Given the description of an element on the screen output the (x, y) to click on. 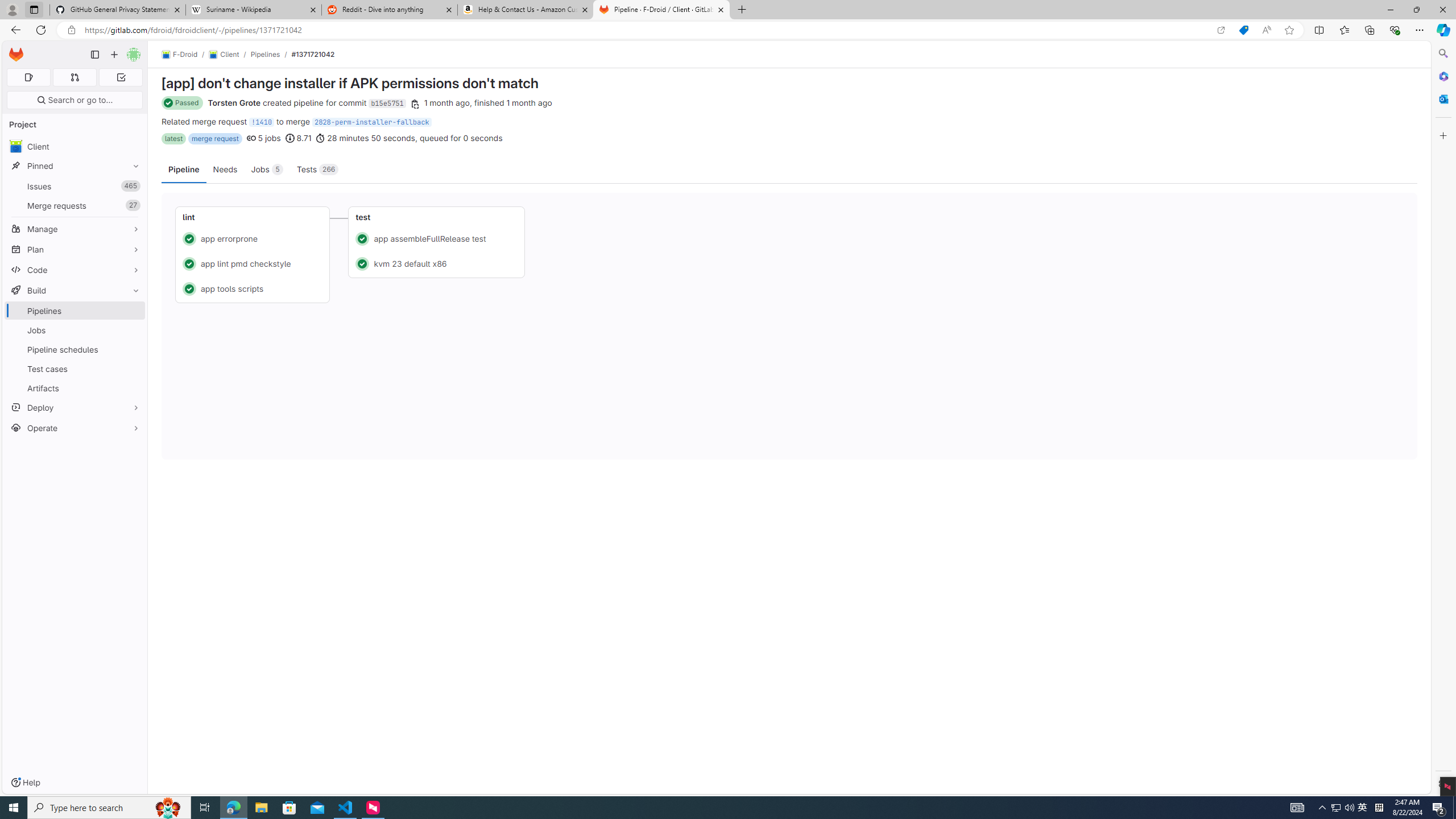
Build (74, 289)
Manage (74, 228)
Jobs (74, 330)
Create new... (113, 54)
Pipeline schedules (74, 348)
Tests 266 (317, 169)
Code (74, 269)
Help & Contact Us - Amazon Customer Service (525, 9)
Pipeline (183, 169)
